Given the description of an element on the screen output the (x, y) to click on. 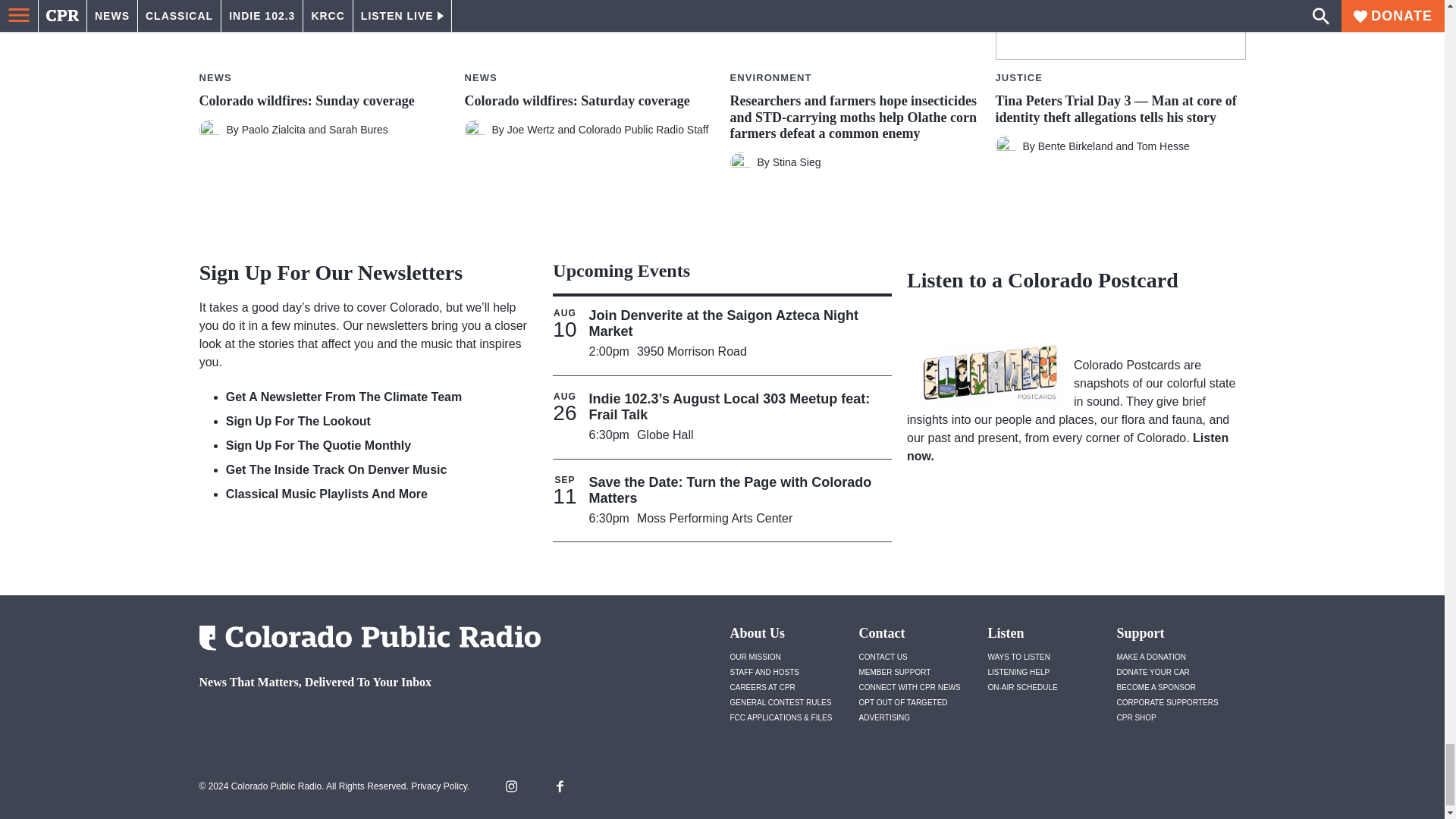
footer (364, 721)
